Given the description of an element on the screen output the (x, y) to click on. 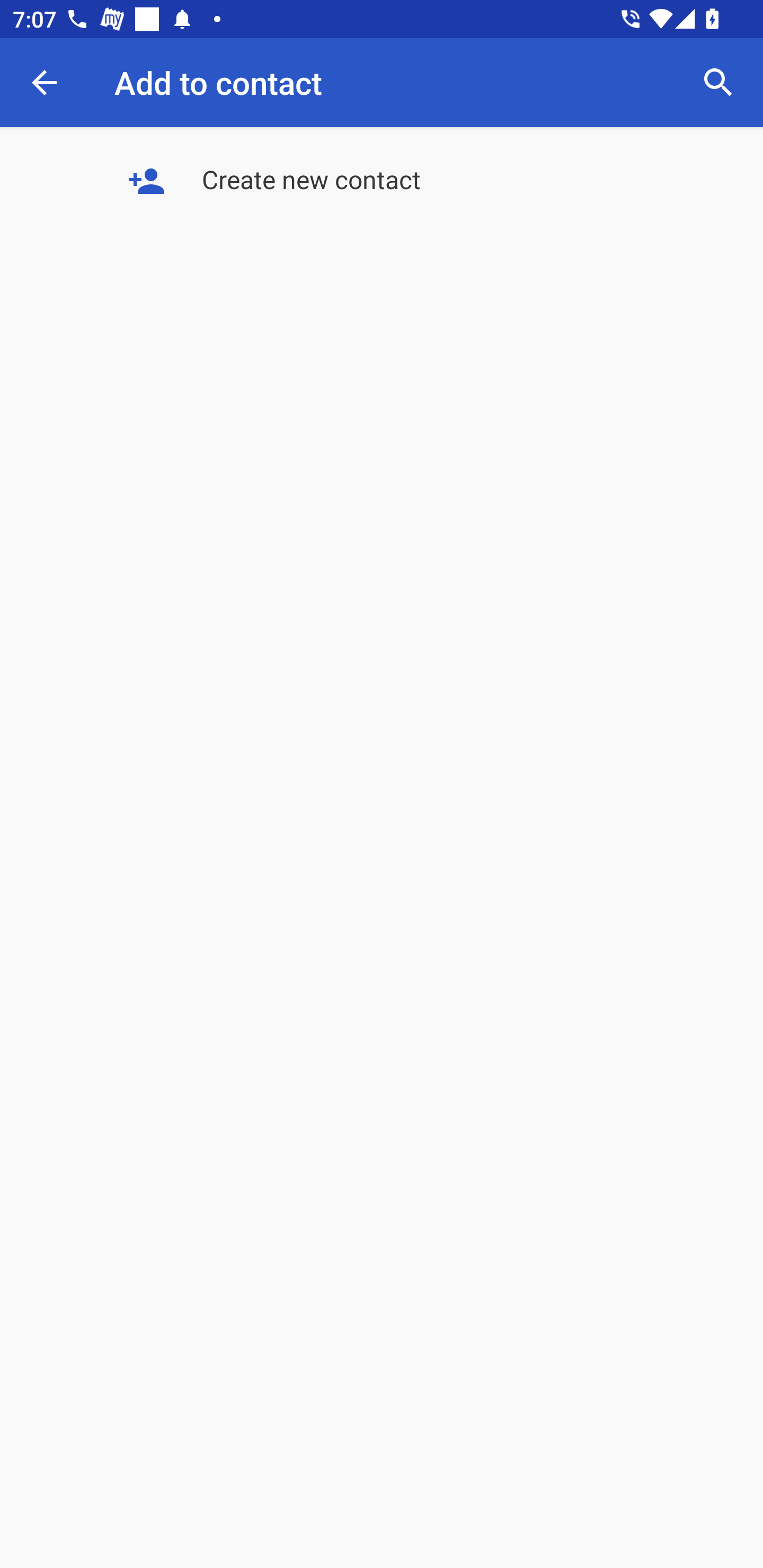
Navigate up (44, 82)
Search contacts (718, 81)
Create new contact (381, 182)
